Given the description of an element on the screen output the (x, y) to click on. 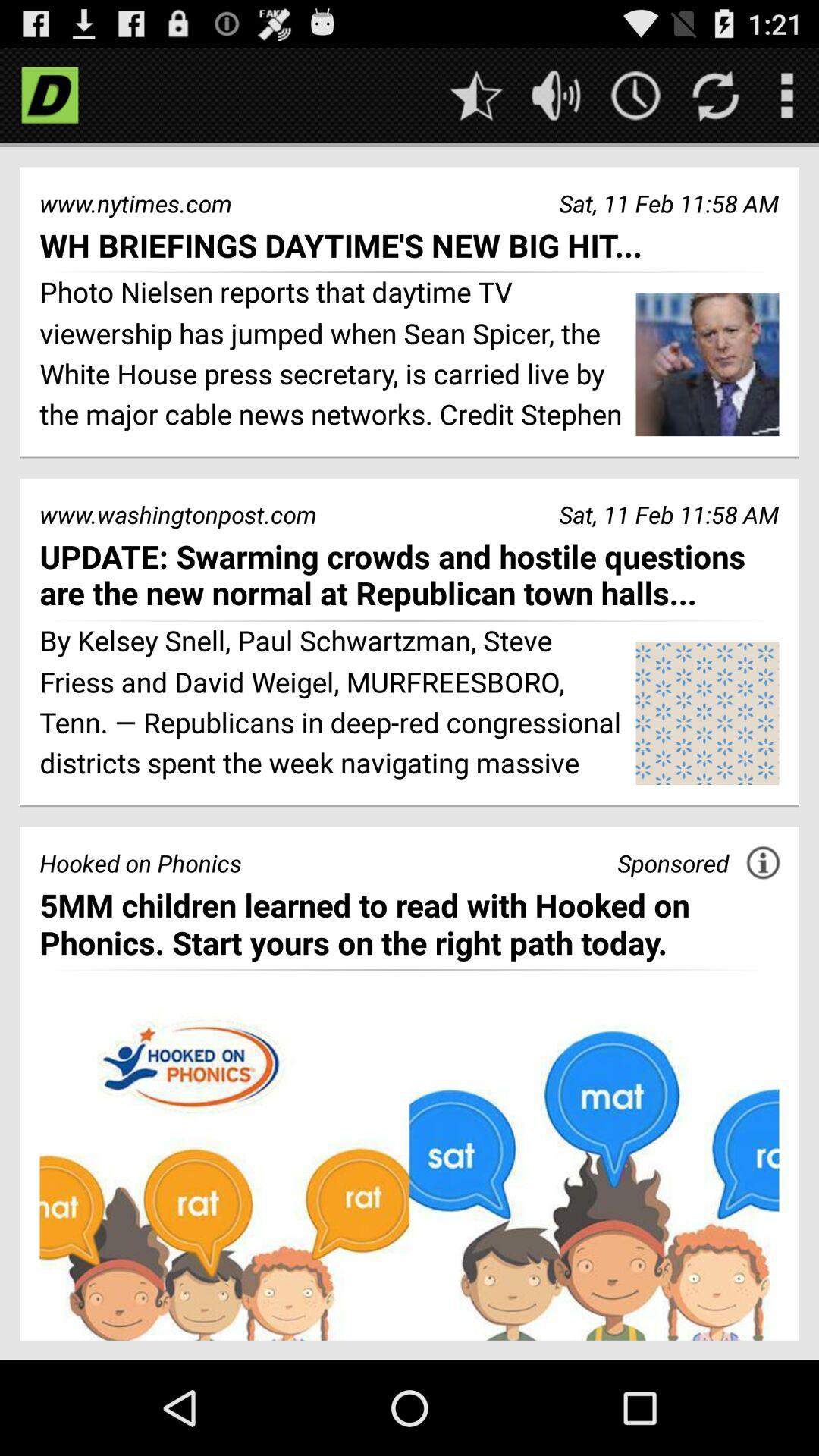
information about sponsored post (763, 862)
